Given the description of an element on the screen output the (x, y) to click on. 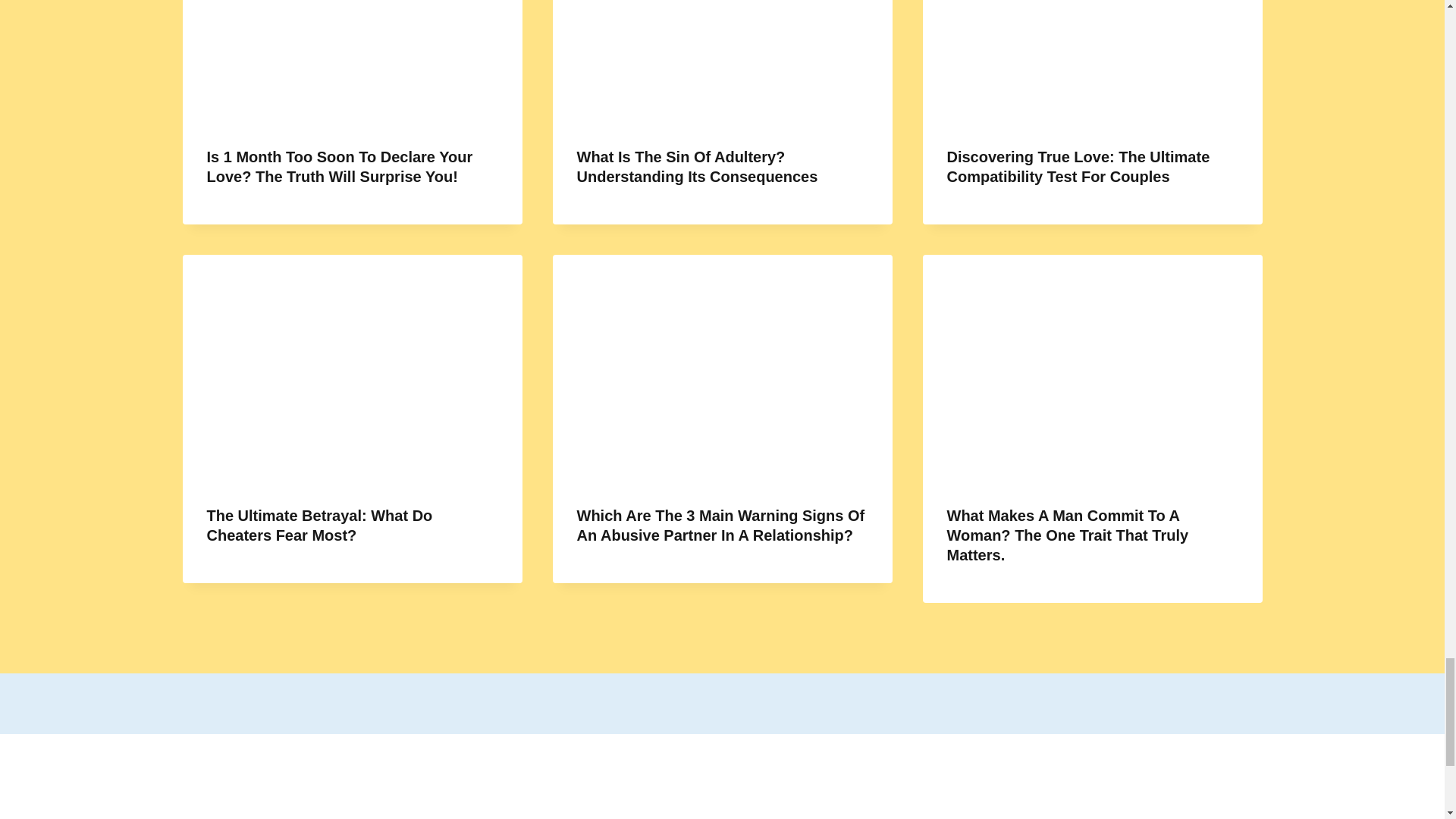
What Is The Sin Of Adultery? Understanding Its Consequences (696, 166)
The Ultimate Betrayal: What Do Cheaters Fear Most? (319, 524)
